Given the description of an element on the screen output the (x, y) to click on. 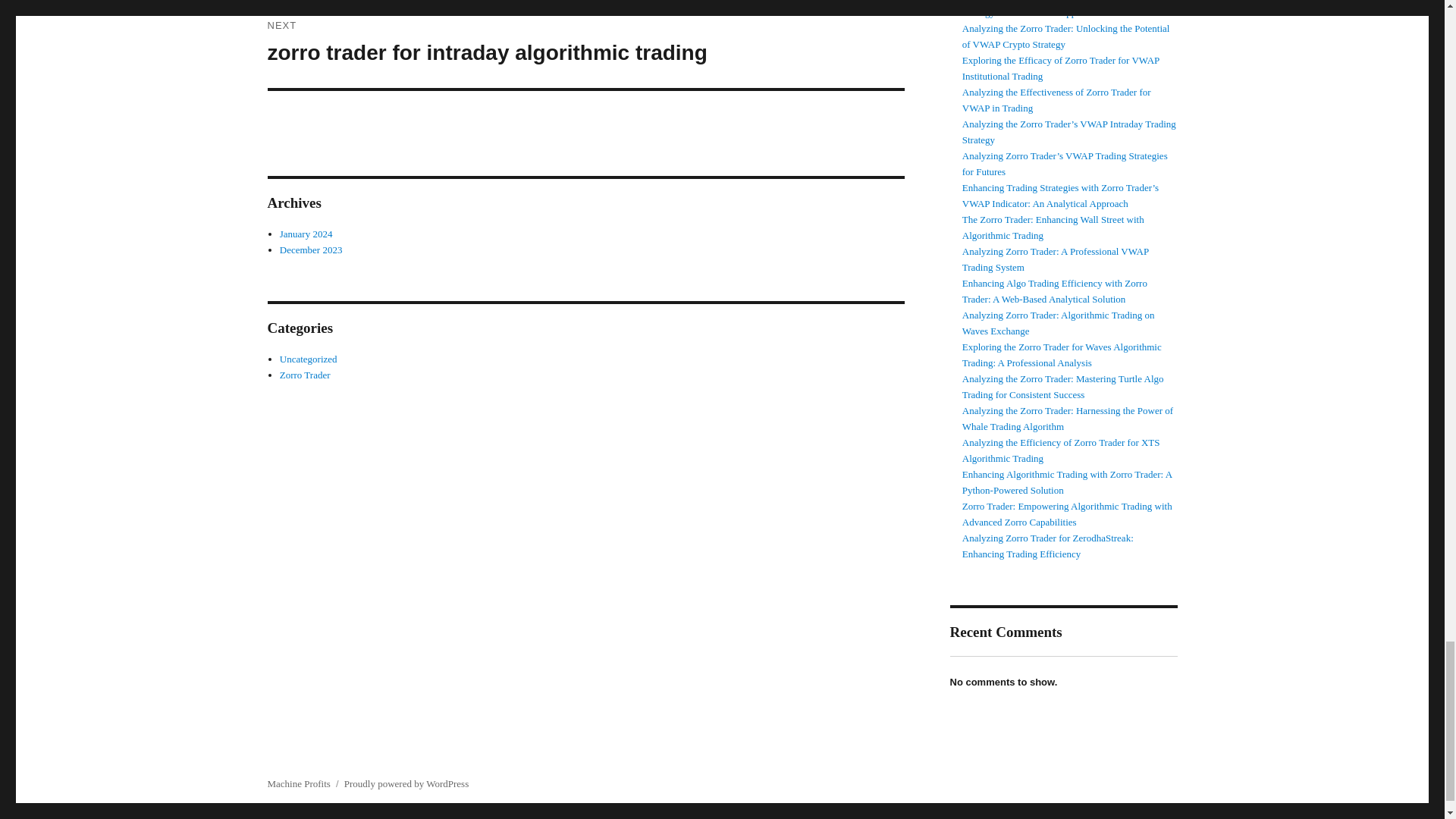
Uncategorized (308, 358)
January 2024 (306, 233)
December 2023 (310, 249)
Zorro Trader (304, 374)
